Given the description of an element on the screen output the (x, y) to click on. 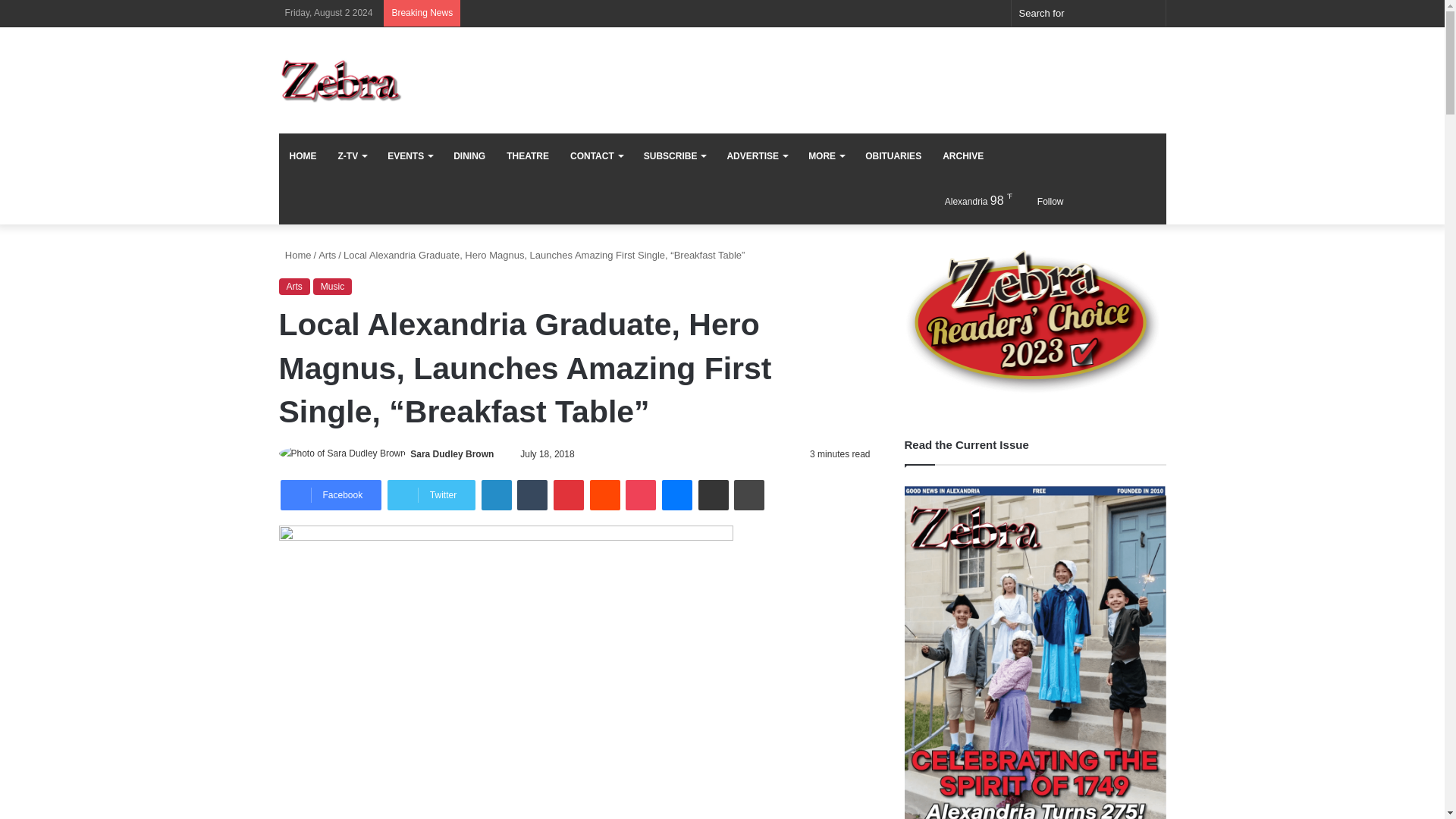
Sara Dudley Brown (451, 453)
CONTACT (596, 156)
Twitter (431, 494)
SUBSCRIBE (674, 156)
ADVERTISE (756, 156)
Search for (1149, 13)
Tumblr (531, 494)
Pocket (641, 494)
Facebook (331, 494)
Scattered Clouds (964, 200)
DINING (469, 156)
EVENTS (409, 156)
LinkedIn (496, 494)
Search for (1088, 13)
Reddit (604, 494)
